Given the description of an element on the screen output the (x, y) to click on. 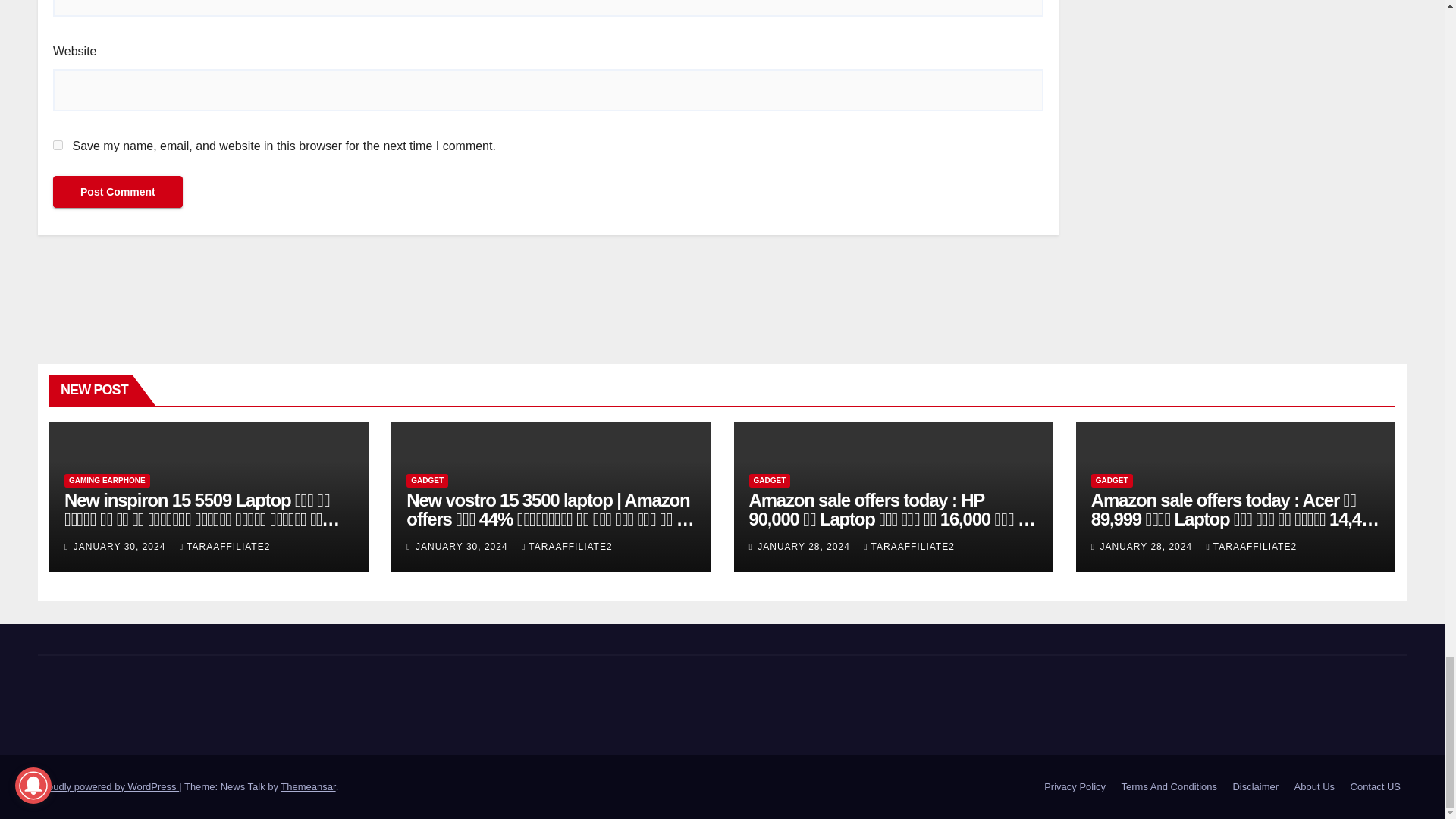
yes (57, 144)
Post Comment (117, 192)
